Given the description of an element on the screen output the (x, y) to click on. 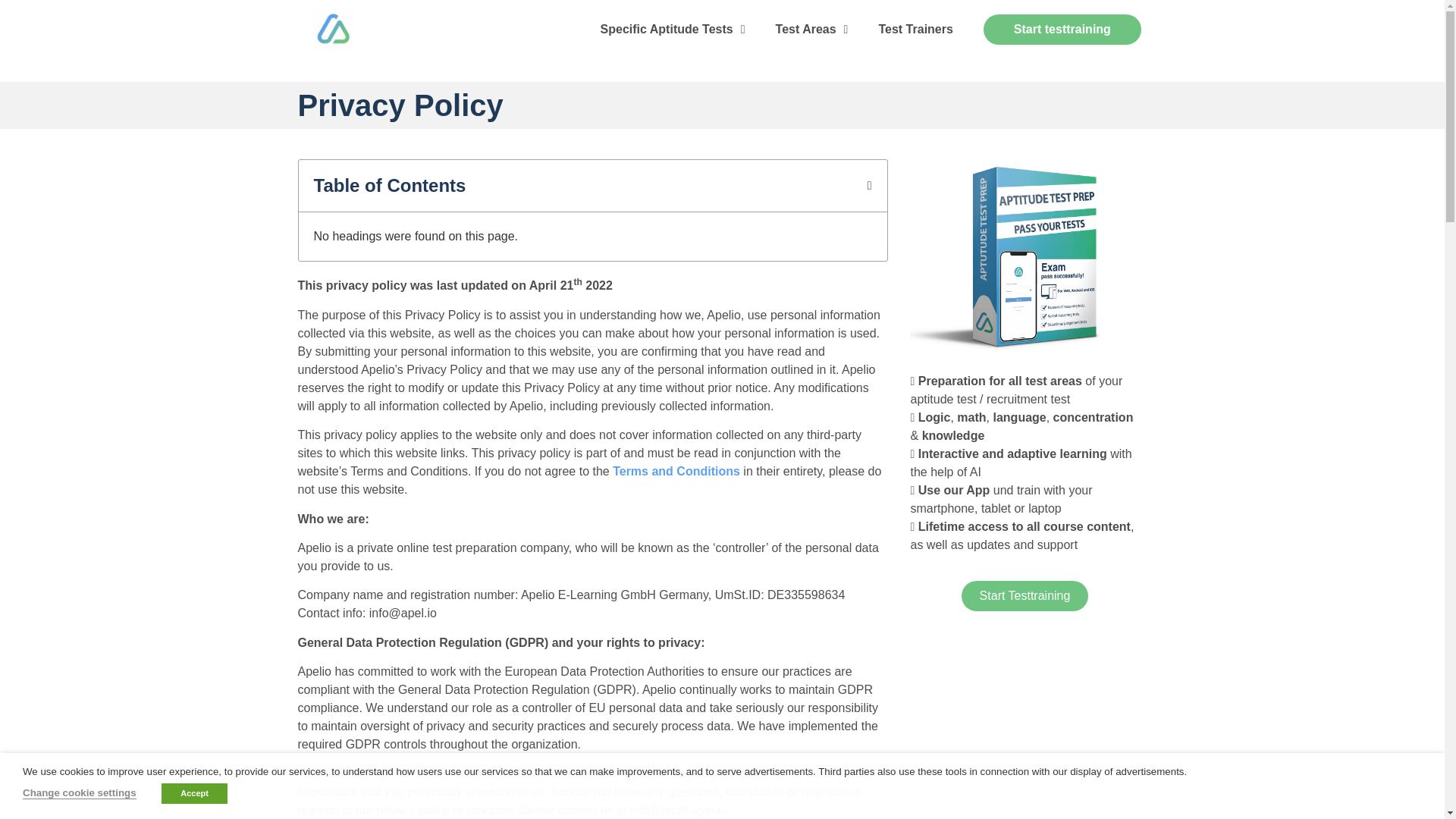
Specific Aptitude Tests (672, 29)
Test Areas (811, 29)
Test Trainers (915, 29)
